Given the description of an element on the screen output the (x, y) to click on. 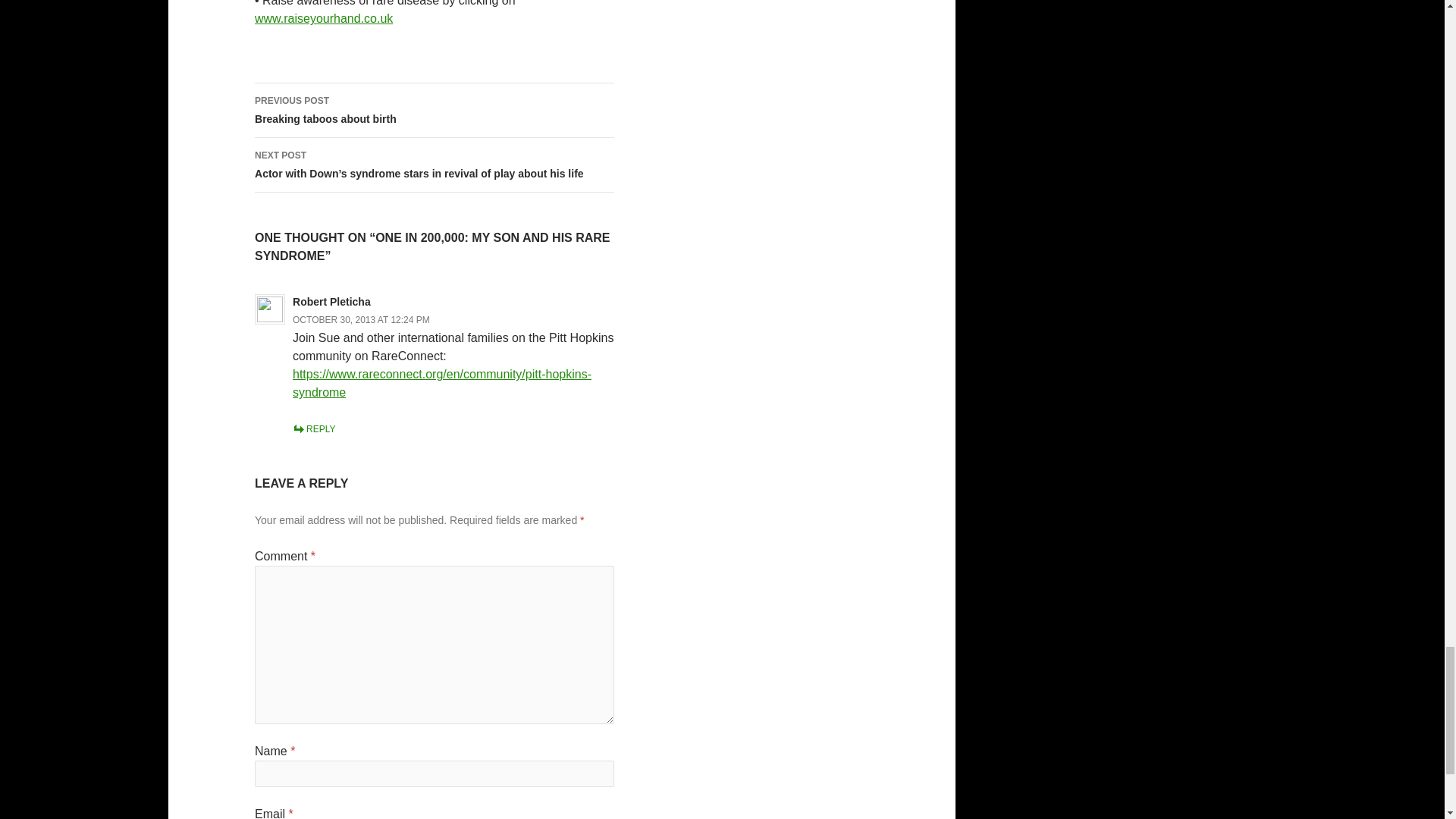
www.raiseyourhand.co.uk (323, 18)
OCTOBER 30, 2013 AT 12:24 PM (360, 319)
REPLY (313, 429)
Robert Pleticha (434, 110)
